Given the description of an element on the screen output the (x, y) to click on. 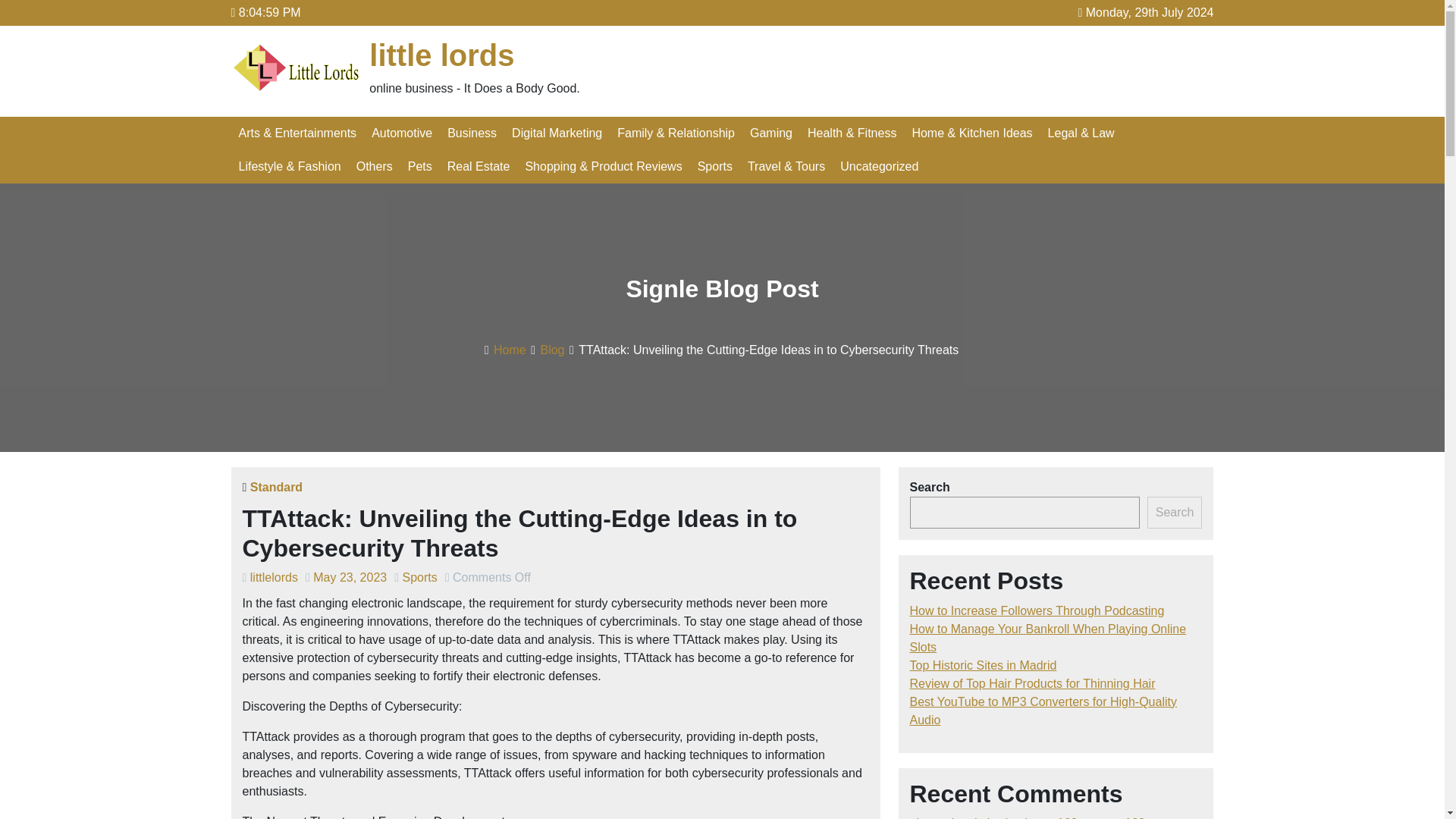
Others (374, 166)
Business (471, 133)
elang win (935, 817)
Review of Top Hair Products for Thinning Hair (1033, 683)
Sports (714, 166)
How to Manage Your Bankroll When Playing Online Slots (1048, 637)
mamen 123 (1112, 817)
Gaming (770, 133)
May 23, 2023 (350, 576)
Best YouTube to MP3 Converters for High-Quality Audio (1043, 710)
Search (1174, 512)
Sports (418, 576)
tokek win (988, 817)
How to Increase Followers Through Podcasting (1037, 610)
Pets (419, 166)
